Given the description of an element on the screen output the (x, y) to click on. 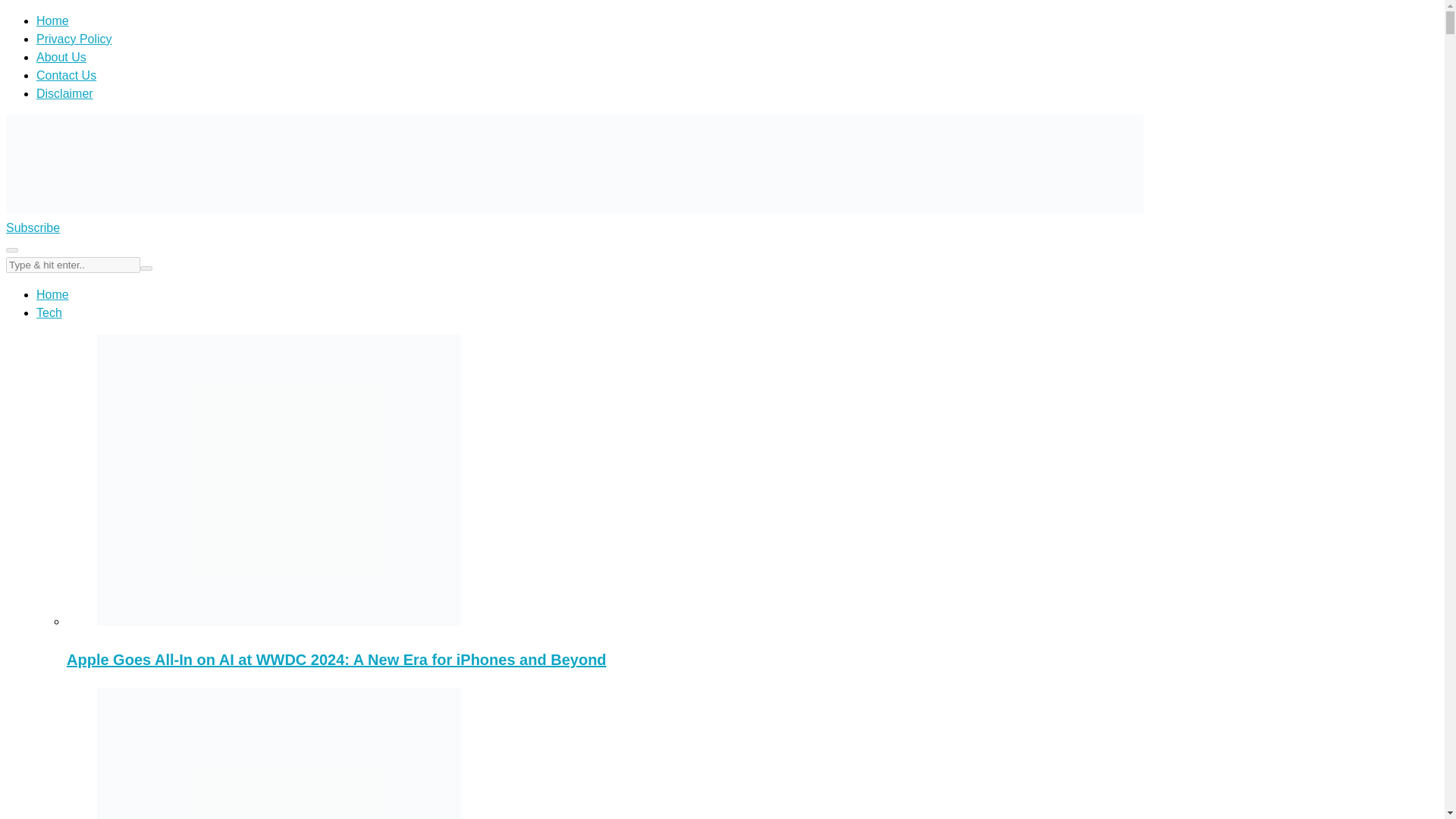
Go (11, 250)
Go (145, 268)
About Us (60, 56)
Contact Us (66, 74)
Home (52, 294)
Disclaimer (64, 92)
Subscribe (32, 227)
Home (52, 20)
Tech (49, 312)
